Given the description of an element on the screen output the (x, y) to click on. 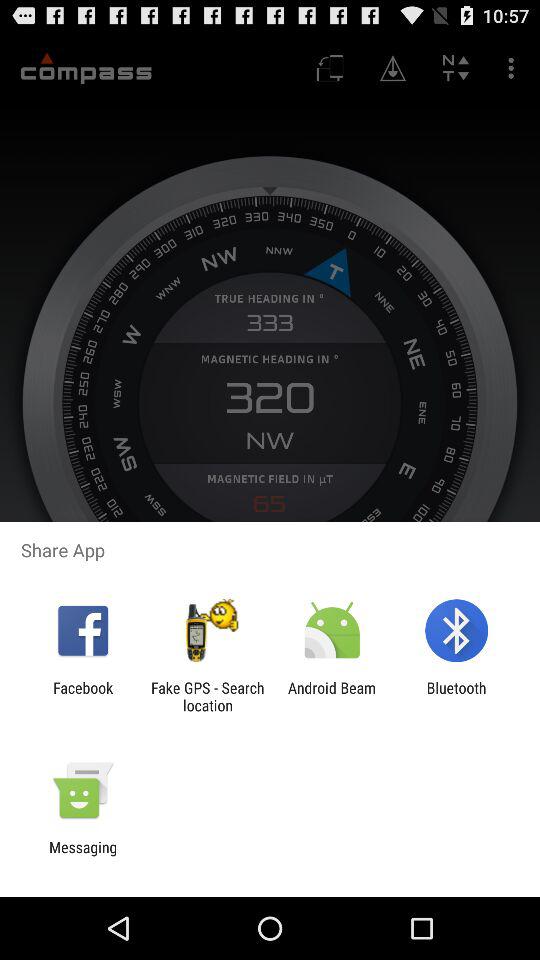
open messaging (83, 856)
